Given the description of an element on the screen output the (x, y) to click on. 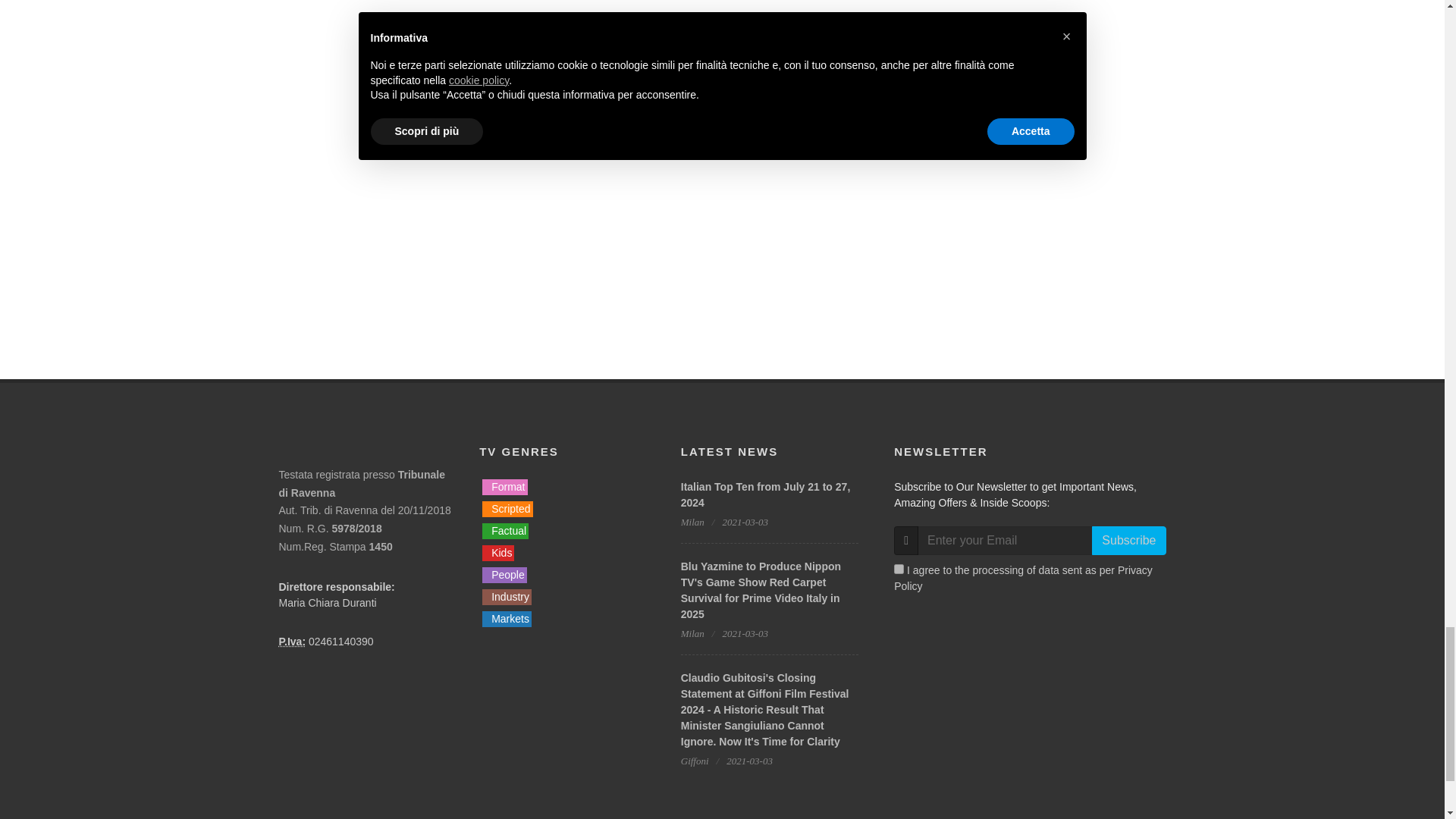
Markets (506, 618)
Factual (504, 530)
People (504, 575)
Format (504, 487)
Industry (506, 596)
S (898, 569)
Scripted (506, 508)
Kids (497, 553)
P.Iva (292, 641)
